Given the description of an element on the screen output the (x, y) to click on. 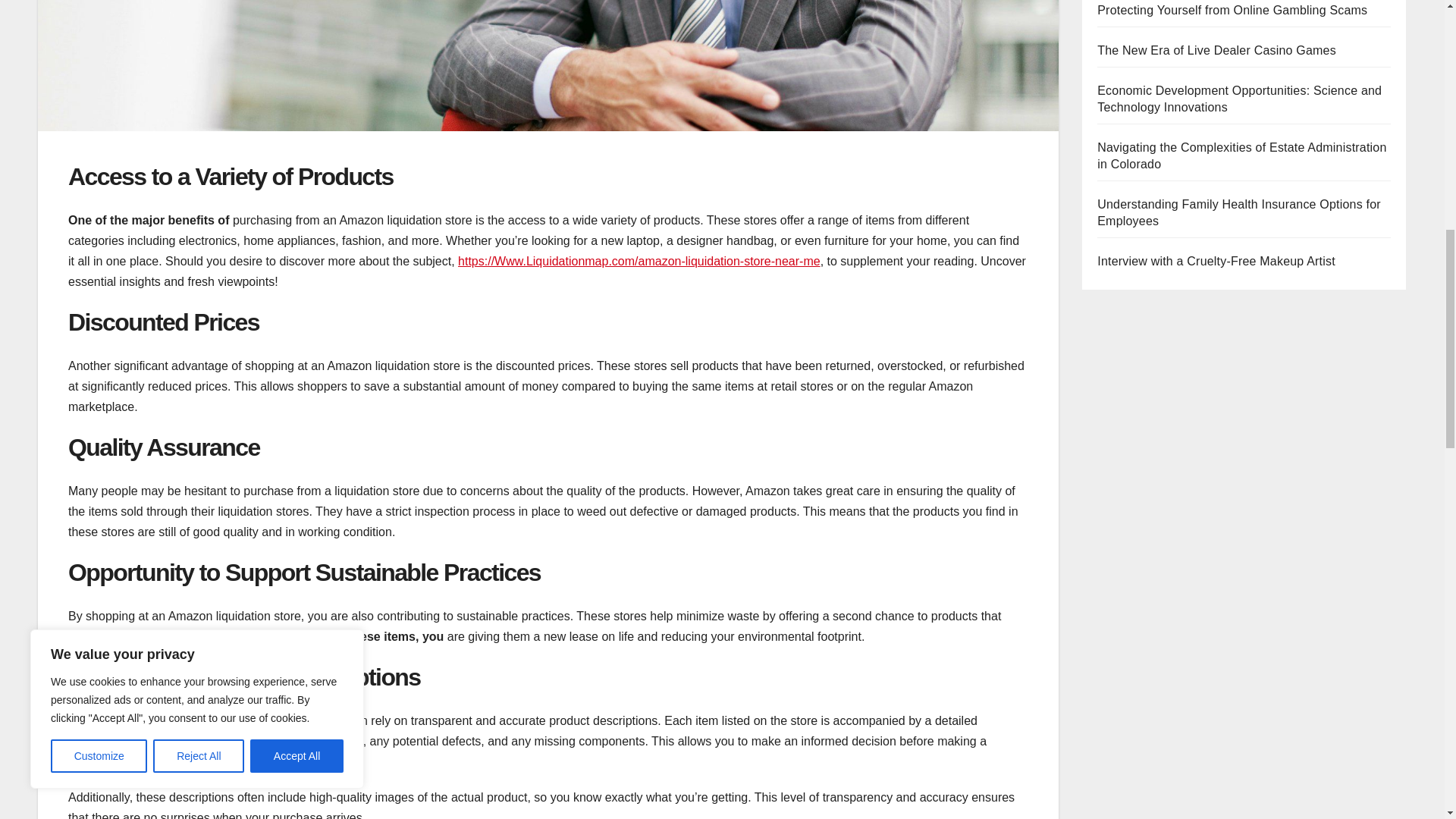
landfill (236, 635)
